Given the description of an element on the screen output the (x, y) to click on. 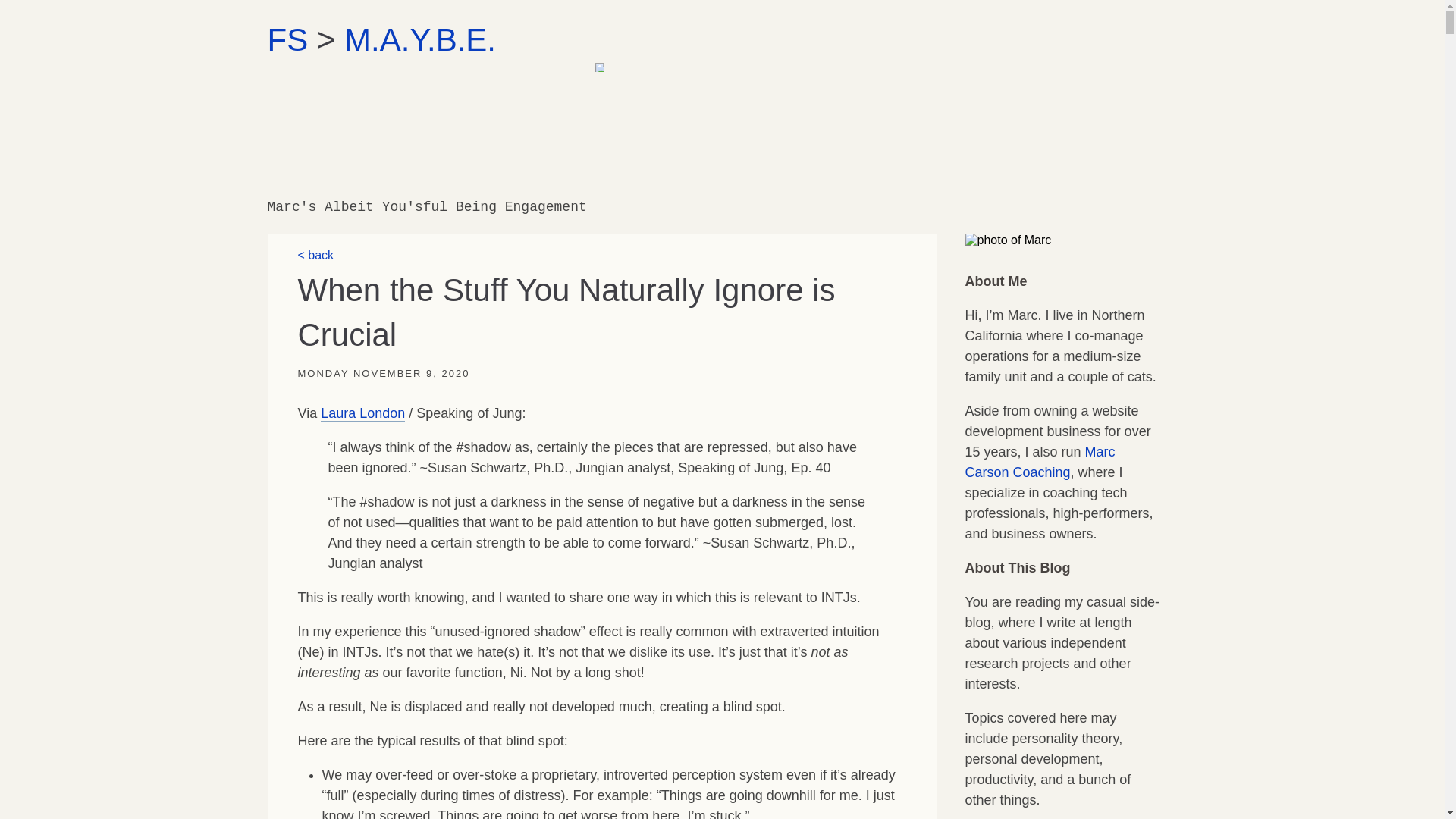
Marc Carson Coaching (1039, 461)
M.A.Y.B.E. (419, 39)
FS (286, 39)
Laura London (362, 413)
